Given the description of an element on the screen output the (x, y) to click on. 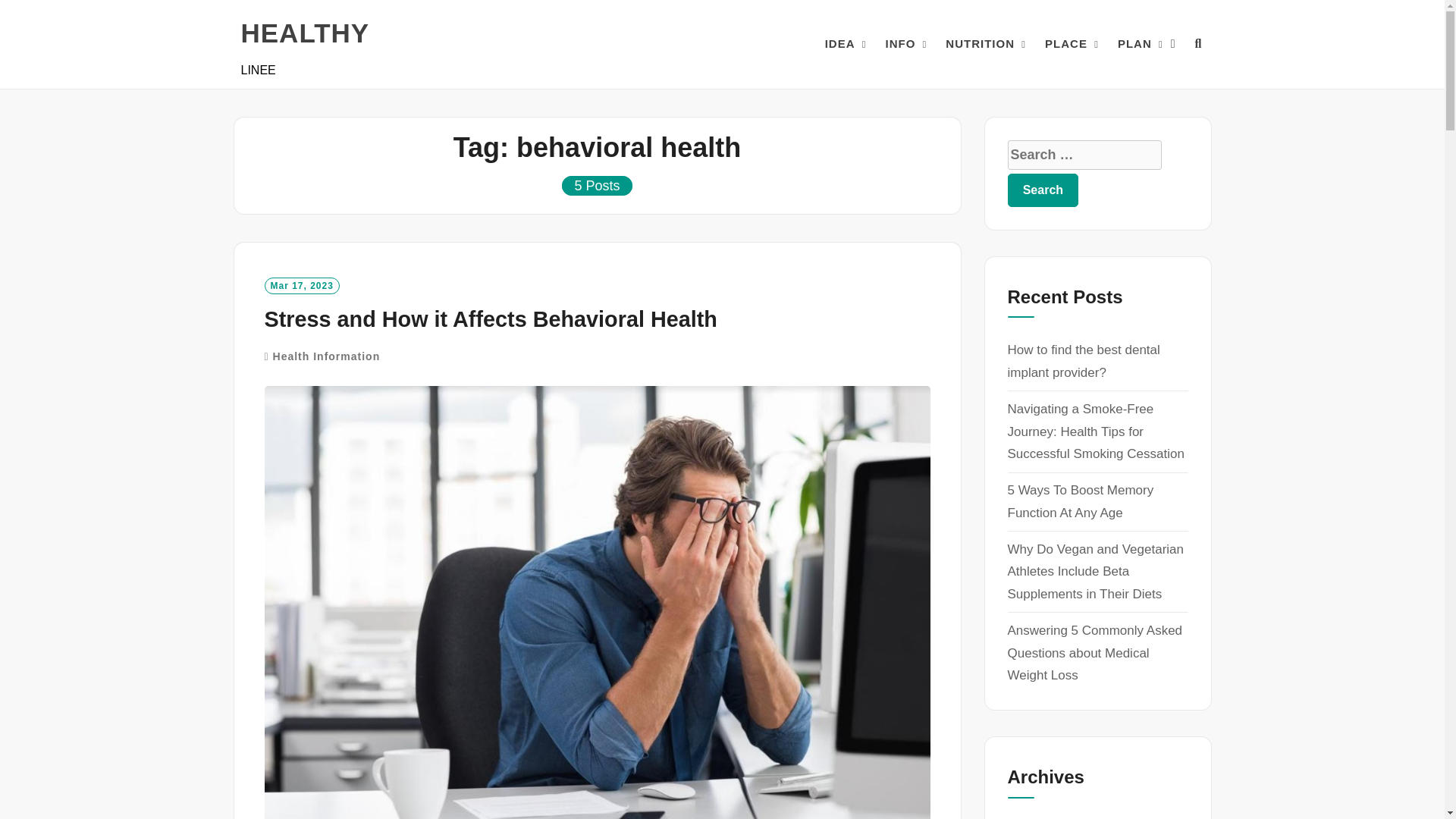
NUTRITION (979, 44)
Health Information (326, 356)
Search (1042, 190)
Search (1042, 190)
Stress and How it Affects Behavioral Health (489, 319)
HEALTHY (305, 33)
PLACE (1066, 44)
Mar 17, 2023 (301, 285)
PLAN (1134, 44)
